Given the description of an element on the screen output the (x, y) to click on. 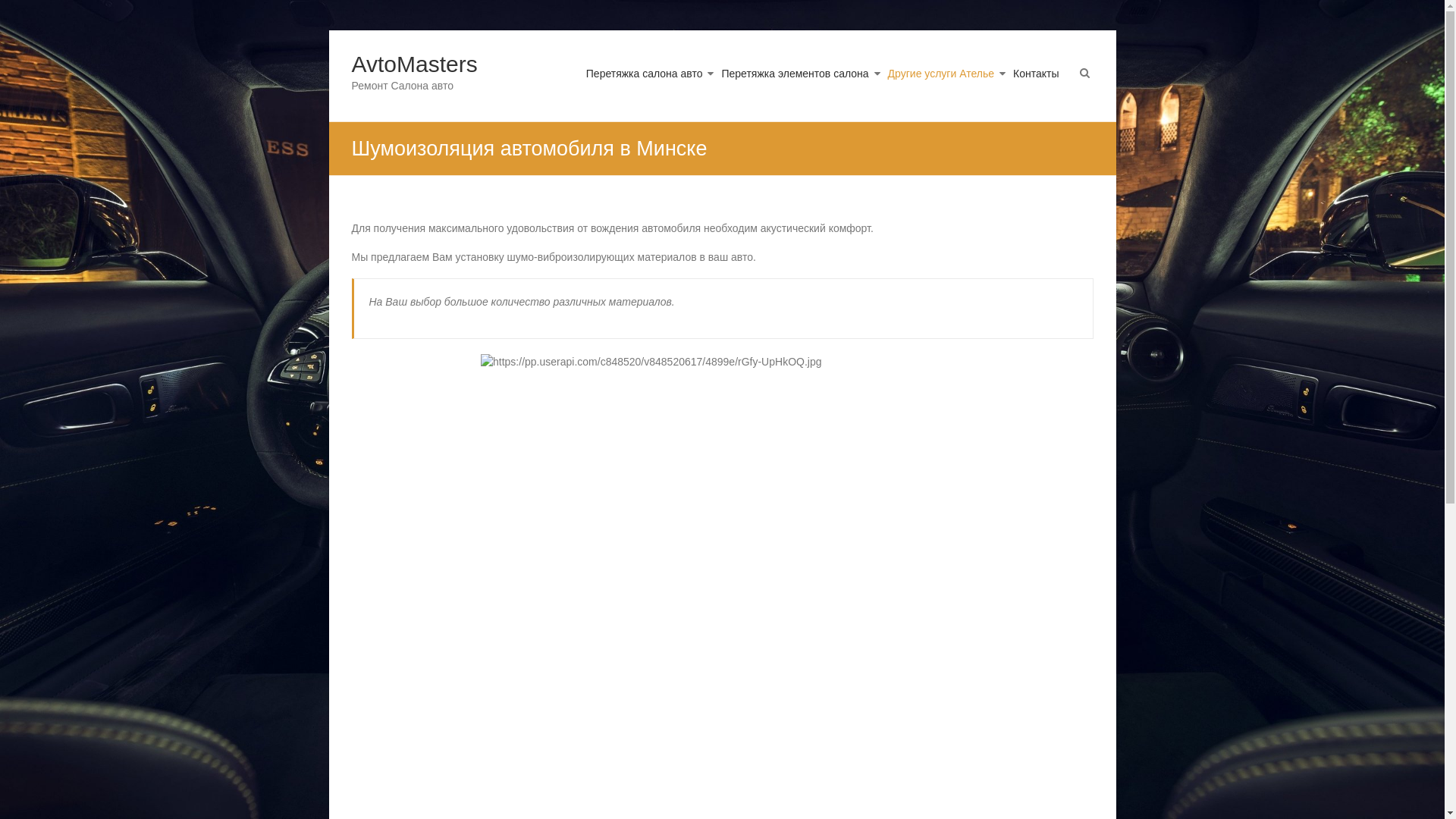
AvtoMasters Element type: text (414, 63)
